Given the description of an element on the screen output the (x, y) to click on. 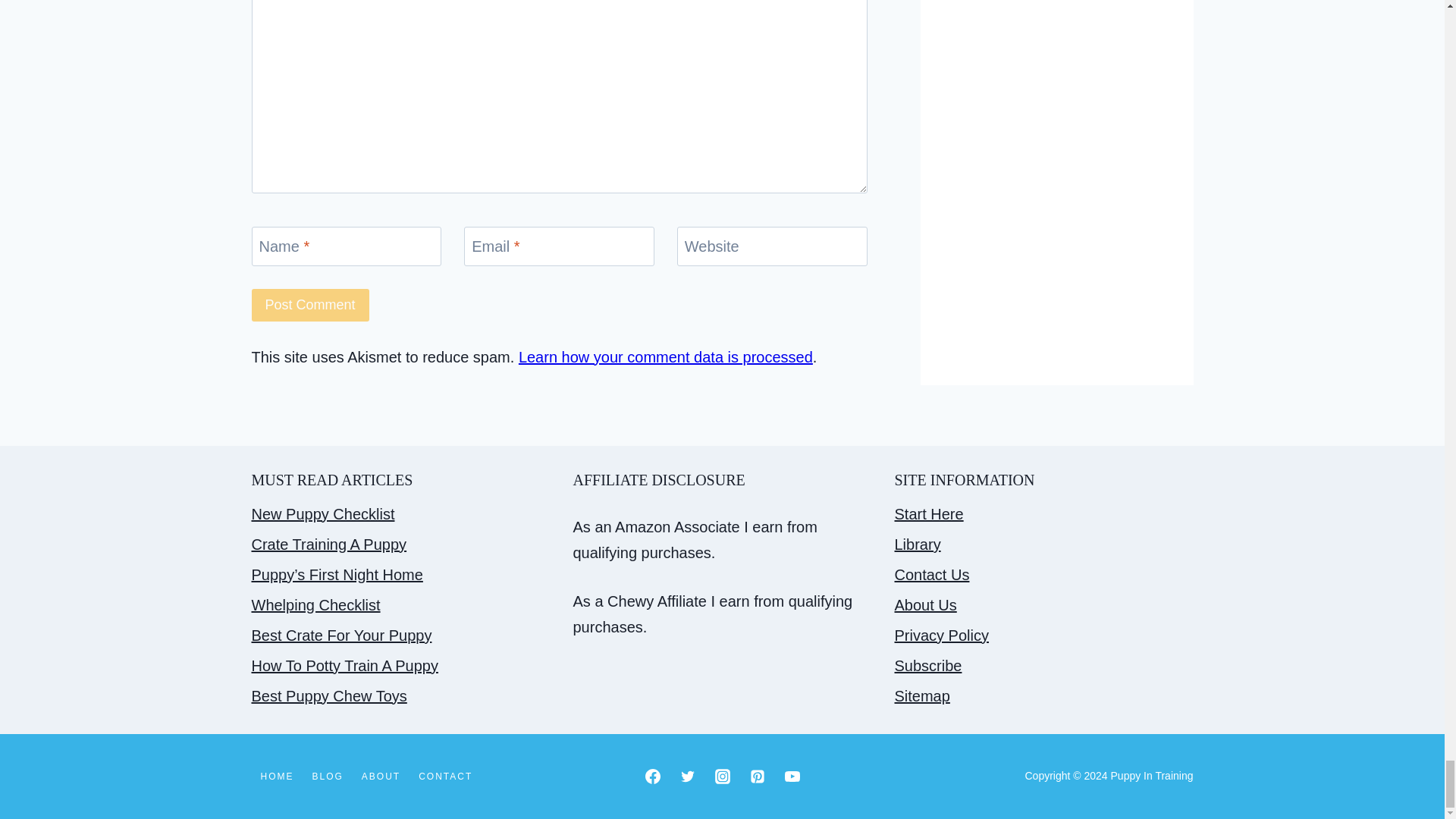
Post Comment (310, 305)
